Given the description of an element on the screen output the (x, y) to click on. 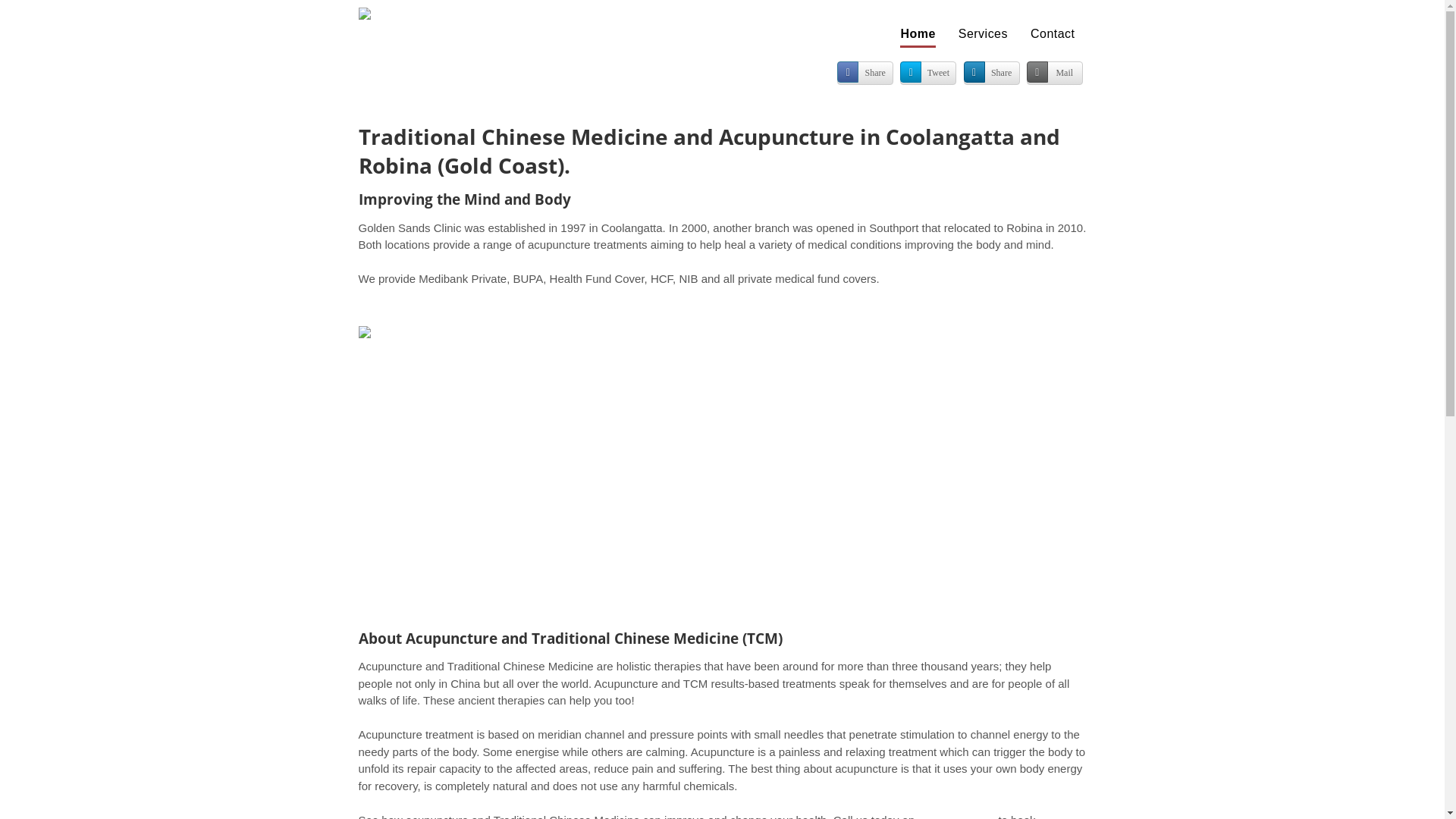
Services Element type: text (983, 34)
Contact Element type: text (1052, 34)
Home Element type: text (917, 34)
